Given the description of an element on the screen output the (x, y) to click on. 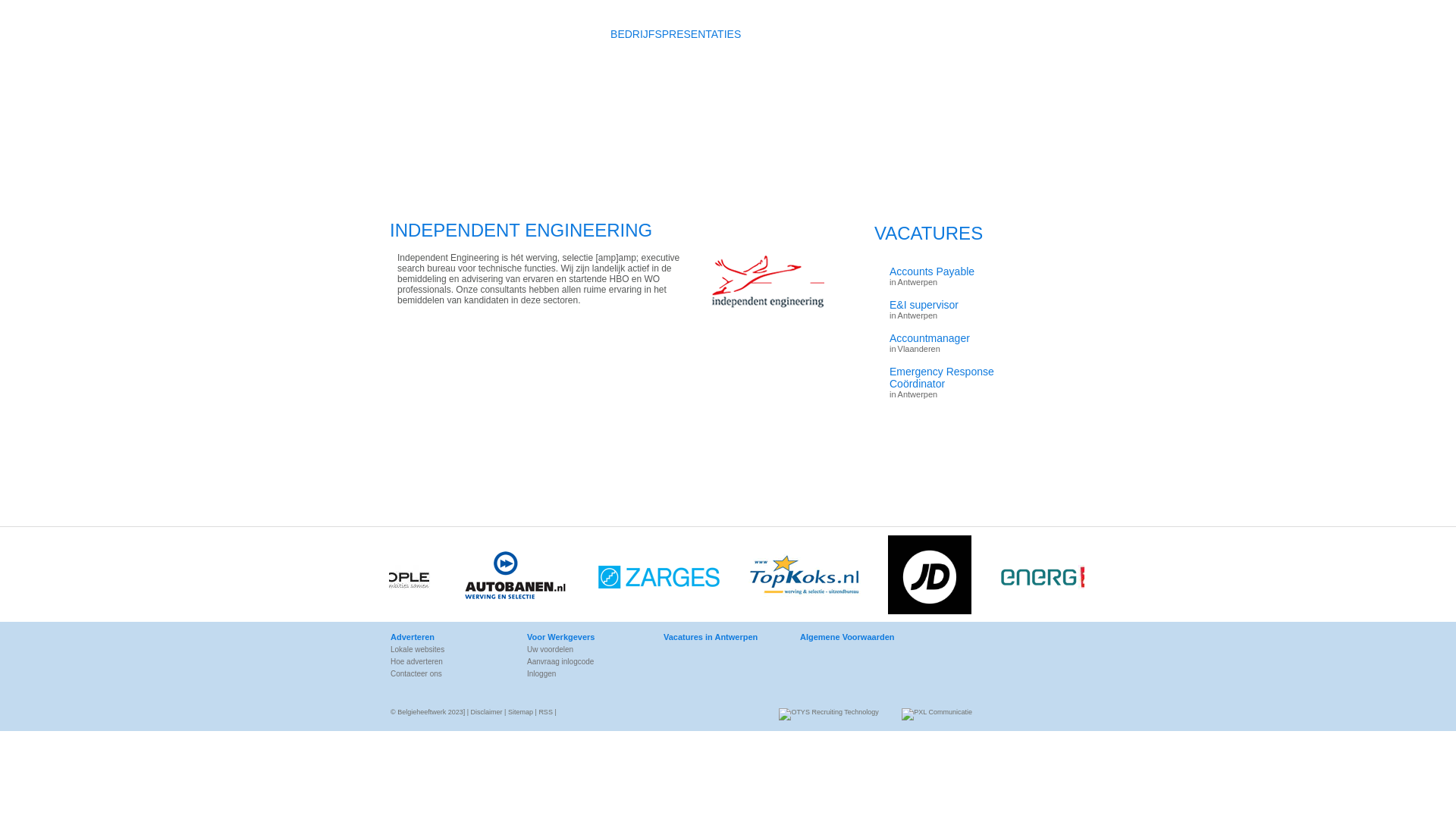
Autobanen werving en selectie  Element type: hover (521, 576)
BEDRIJFSPRESENTATIES Element type: text (675, 33)
Contacteer ons Element type: text (449, 673)
Accounts Payable Element type: text (961, 271)
Vacatures in Antwerpen Element type: text (722, 636)
Adverteren Element type: text (449, 636)
KWH-People Element type: hover (1065, 576)
Inloggen werkgever Element type: text (1036, 6)
Independent Engineering Element type: hover (763, 317)
Accountmanager Element type: text (961, 338)
Voor Werkgevers Element type: text (585, 636)
Topkoks Element type: hover (810, 576)
E&I supervisor Element type: text (961, 304)
OTYS Recruiting Technology Element type: hover (828, 714)
Lokale websites Element type: text (449, 649)
HOME Element type: text (400, 33)
Algemene Voorwaarden Element type: text (858, 636)
Disclaimer Element type: text (486, 711)
CONTACT Element type: text (903, 33)
Lef Recruitment Element type: hover (666, 576)
Uw voordelen Element type: text (585, 649)
PXL Communicatie Element type: hover (936, 714)
Aanvraag inlogcode Element type: text (585, 661)
24People Element type: hover (380, 576)
Sitemap Element type: text (520, 711)
RSS Element type: text (545, 711)
Hoe adverteren Element type: text (449, 661)
WERKGEVERS Element type: text (809, 33)
Inloggen Element type: text (585, 673)
24People Element type: hover (1140, 576)
VACATURES ANTWERPEN Element type: text (513, 33)
JD Sports Element type: hover (936, 576)
